Given the description of an element on the screen output the (x, y) to click on. 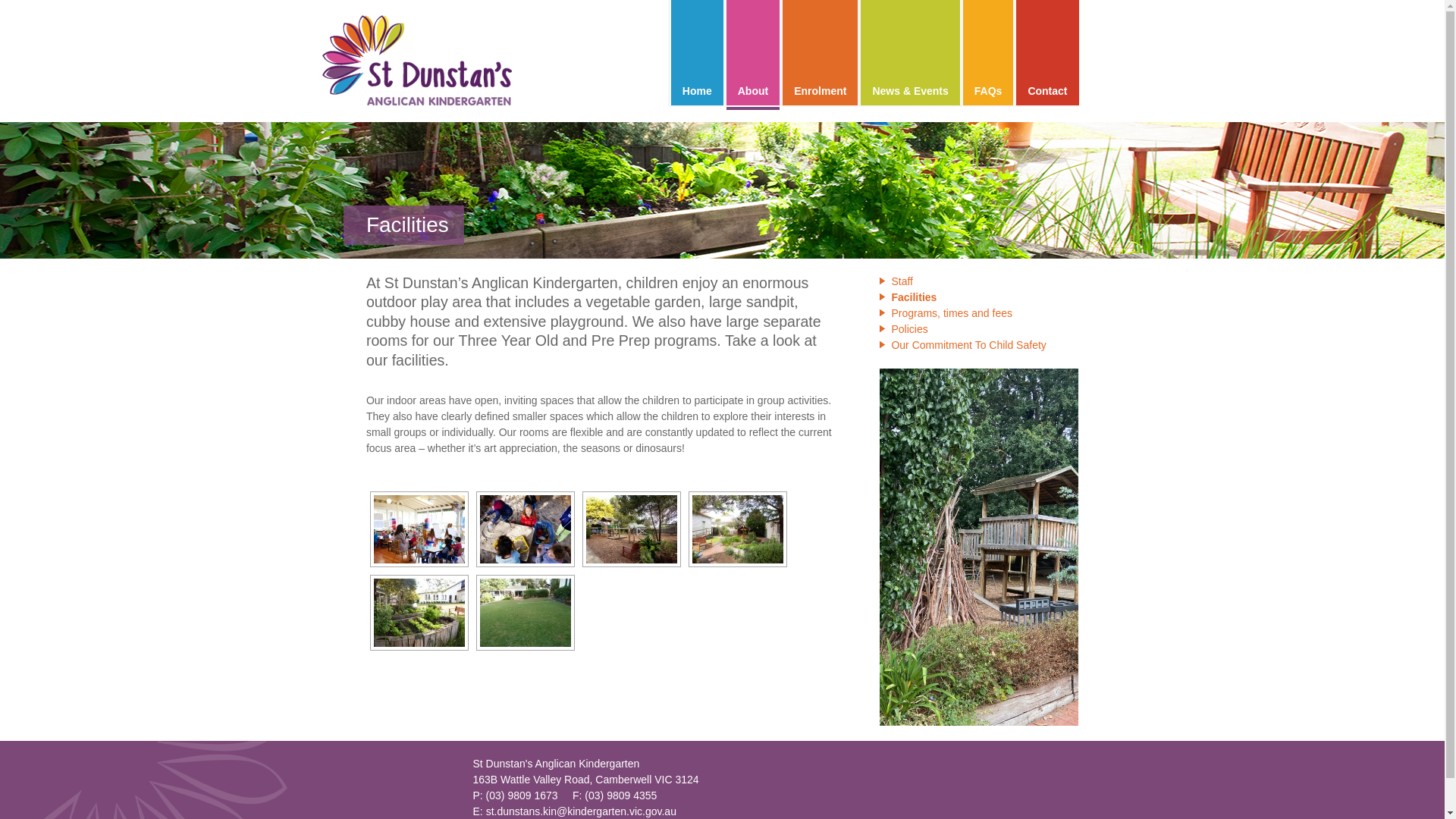
About Element type: text (752, 53)
FAQs Element type: text (988, 52)
Enrolment Element type: text (819, 52)
News & Events Element type: text (909, 52)
Home Element type: text (697, 52)
Policies Element type: text (978, 329)
Facilities Element type: text (978, 297)
Contact Element type: text (1047, 52)
Our Commitment To Child Safety Element type: text (978, 345)
Staff Element type: text (978, 281)
st.dunstans.kin@kindergarten.vic.gov.au Element type: text (581, 811)
Programs, times and fees Element type: text (978, 313)
yardphoto Element type: hover (525, 612)
